Given the description of an element on the screen output the (x, y) to click on. 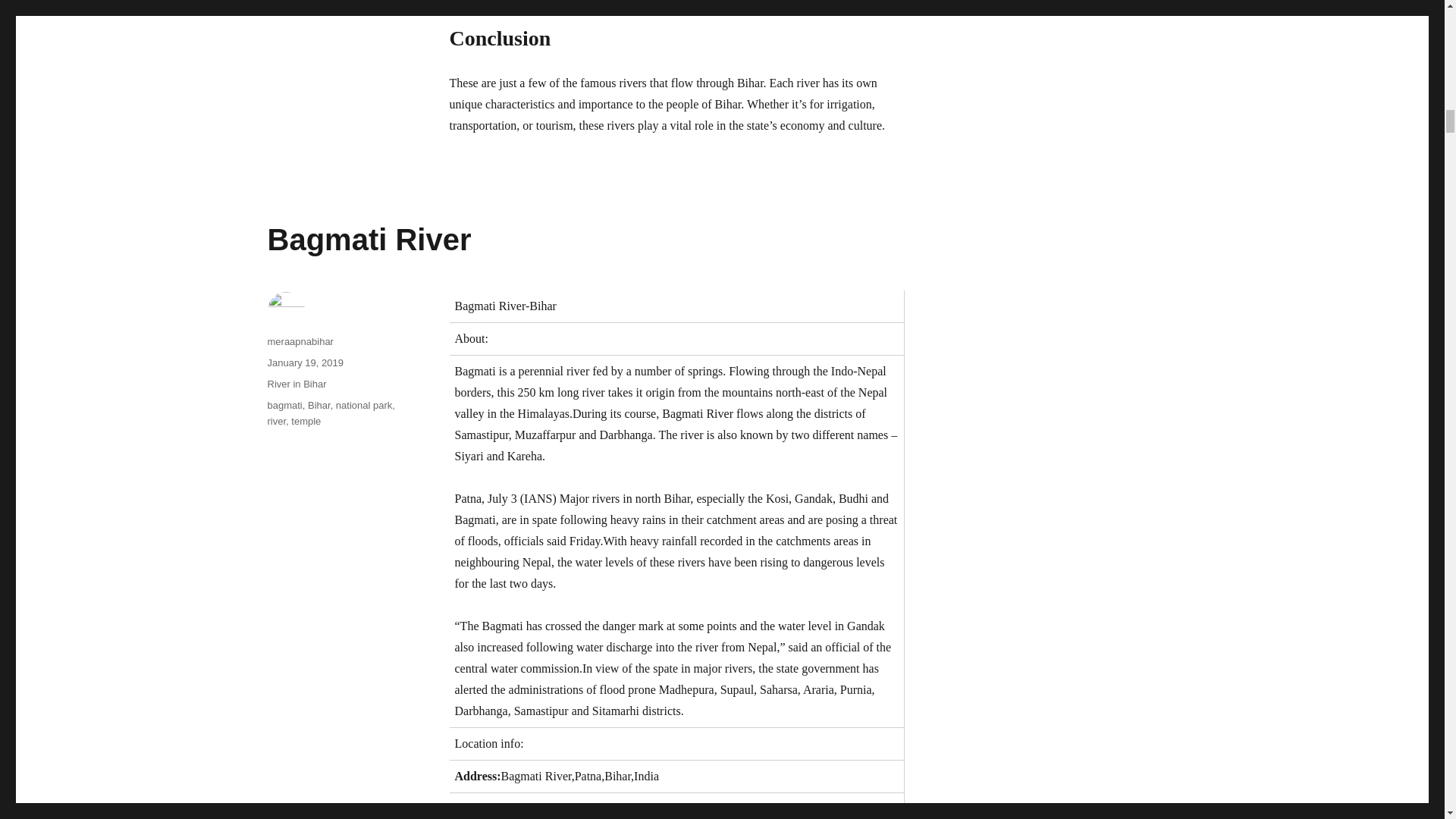
Bagmati River (368, 239)
national park (363, 405)
River in Bihar (296, 383)
meraapnabihar (299, 341)
bagmati (283, 405)
January 19, 2019 (304, 362)
temple (305, 420)
Bihar (318, 405)
river (275, 420)
